Given the description of an element on the screen output the (x, y) to click on. 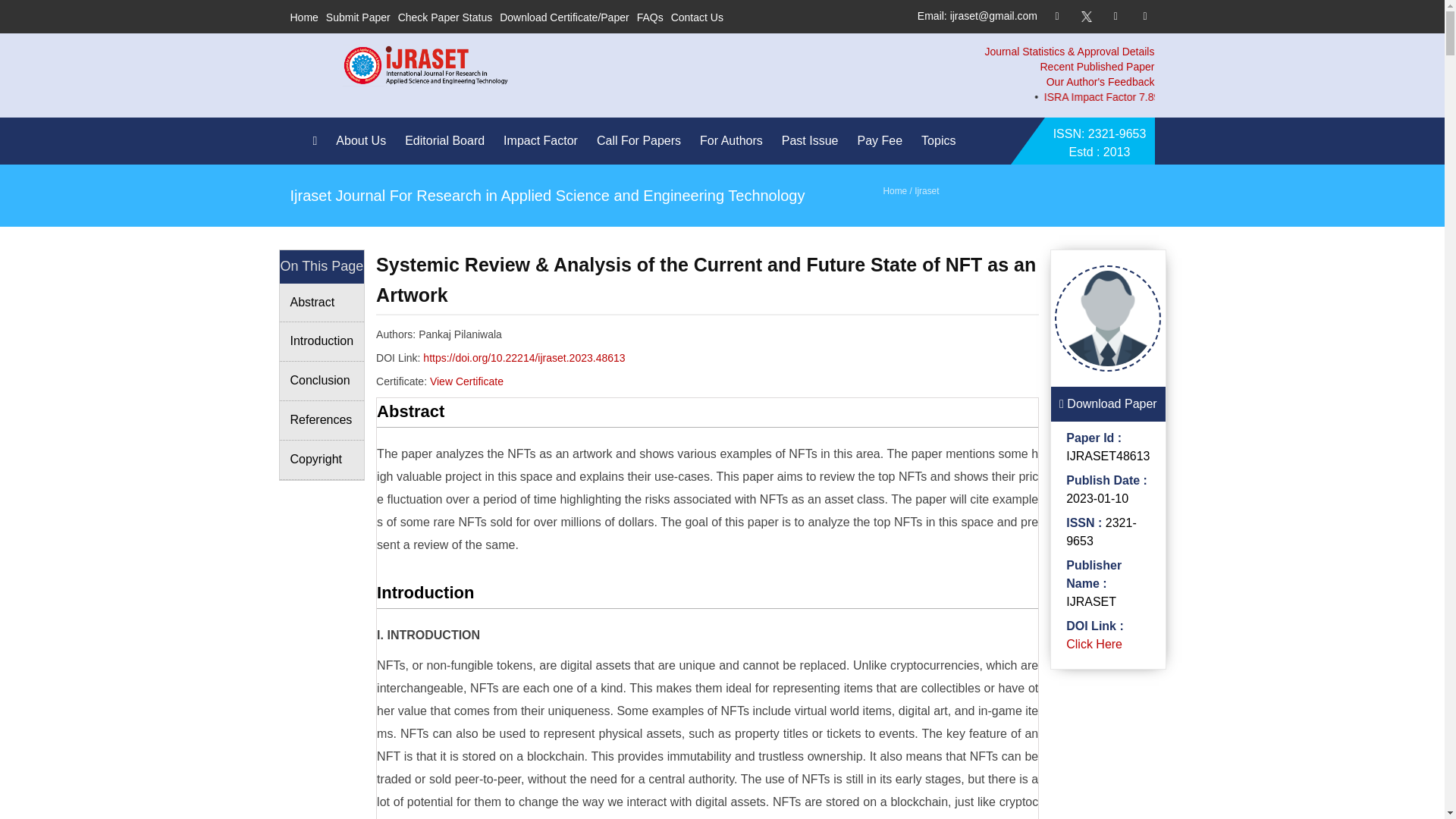
 ISRA Impact Factor 7.894 (1208, 96)
Editorial Board (448, 140)
Contact Us (697, 17)
Submit Paper (358, 17)
Recent Published Paper (1096, 67)
Check Paper Status (445, 17)
Call For Papers (642, 140)
Introduction (321, 341)
 SJIF Impact Factor: 7.538 (1375, 96)
For Authors (735, 140)
About Us (364, 140)
Our Author's Feedback (1100, 82)
FAQs (650, 17)
References (321, 420)
Conclusion (321, 381)
